Given the description of an element on the screen output the (x, y) to click on. 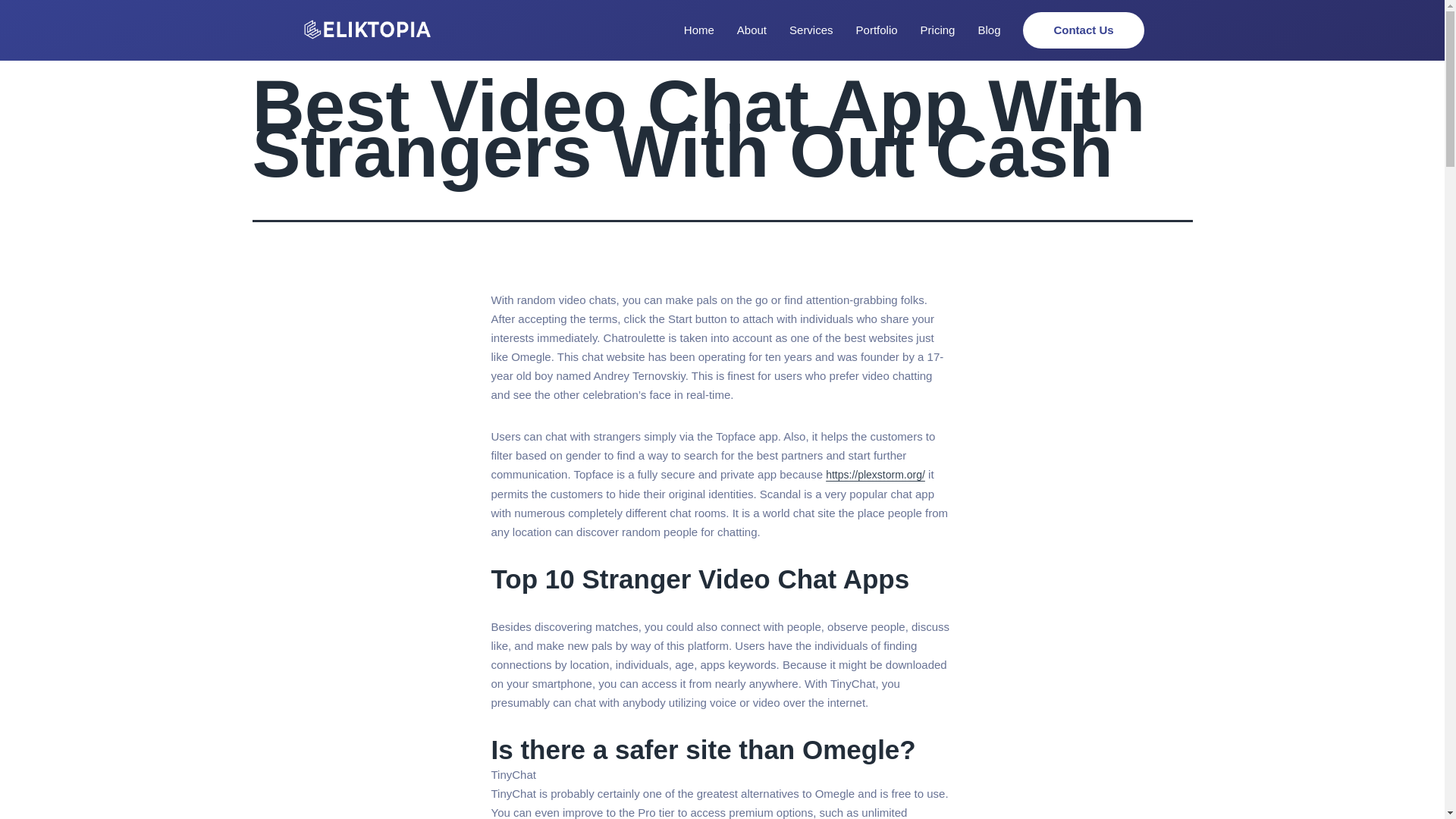
Contact Us (1082, 30)
